Given the description of an element on the screen output the (x, y) to click on. 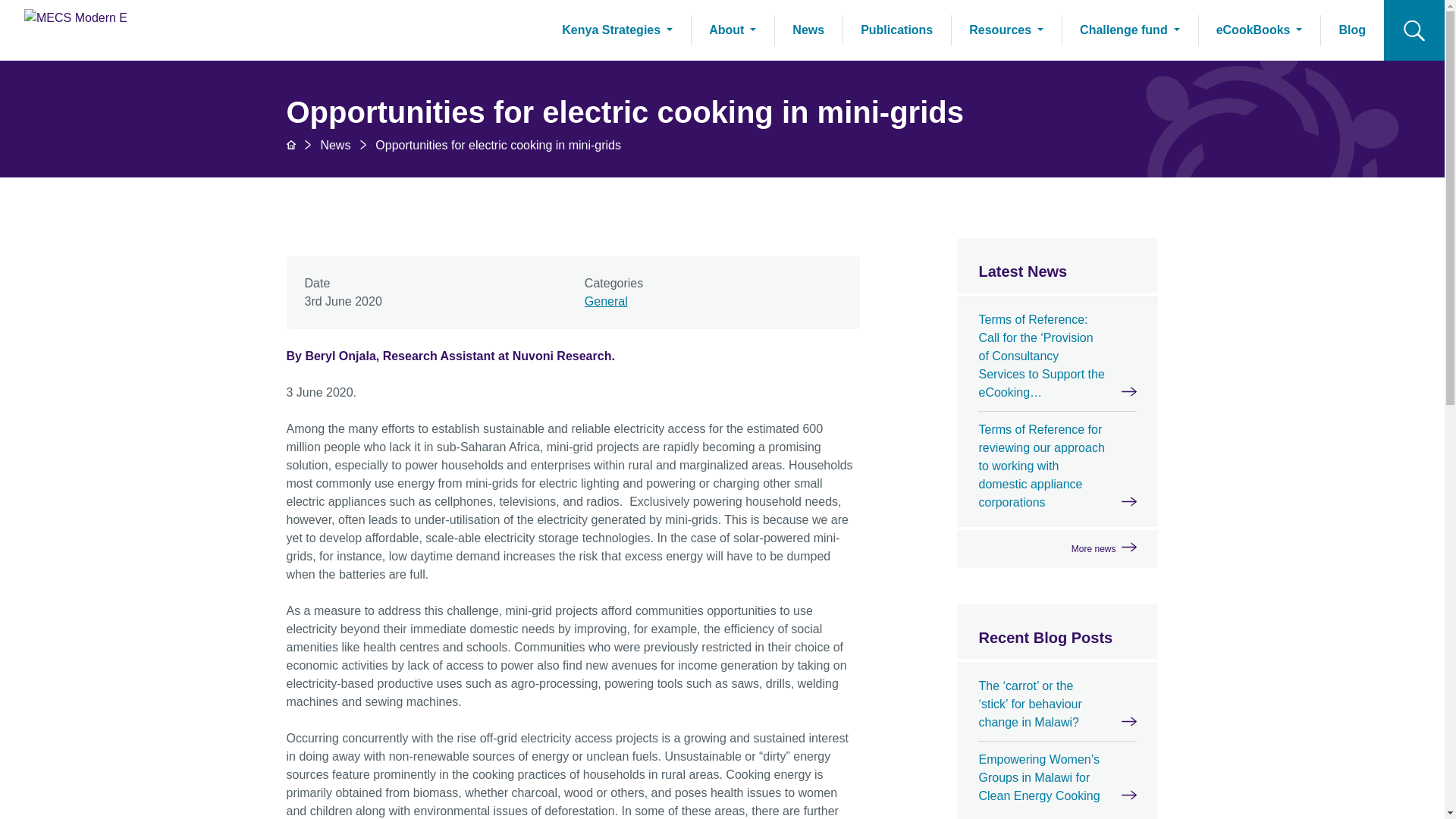
Kenya Strategies (616, 30)
Challenge fund (1129, 30)
News (808, 30)
Resources (1005, 30)
News (335, 144)
Publications (896, 30)
eCookBooks (1259, 30)
General (606, 300)
About (732, 30)
Blog (1352, 30)
